Given the description of an element on the screen output the (x, y) to click on. 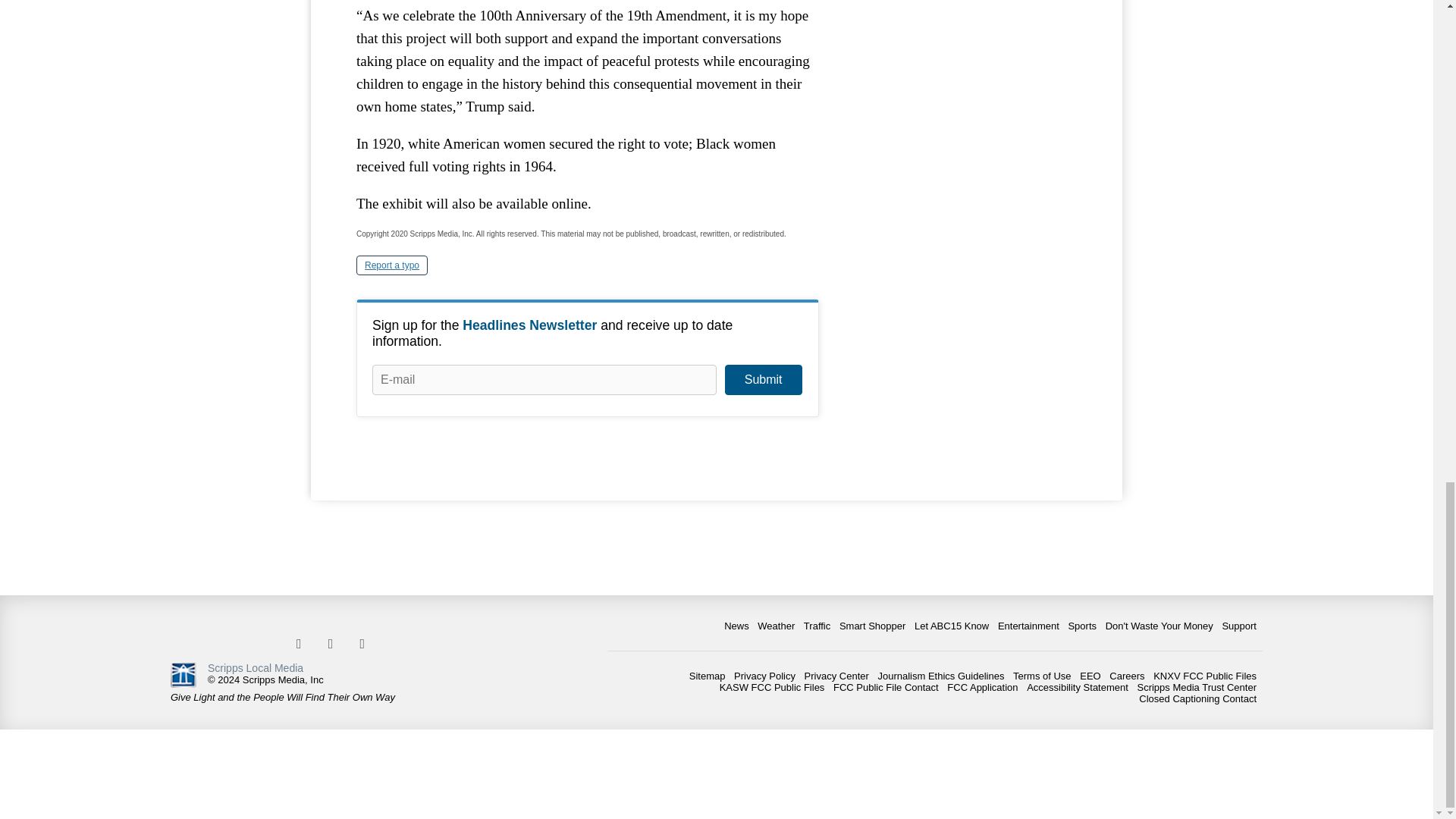
Submit (763, 379)
